Given the description of an element on the screen output the (x, y) to click on. 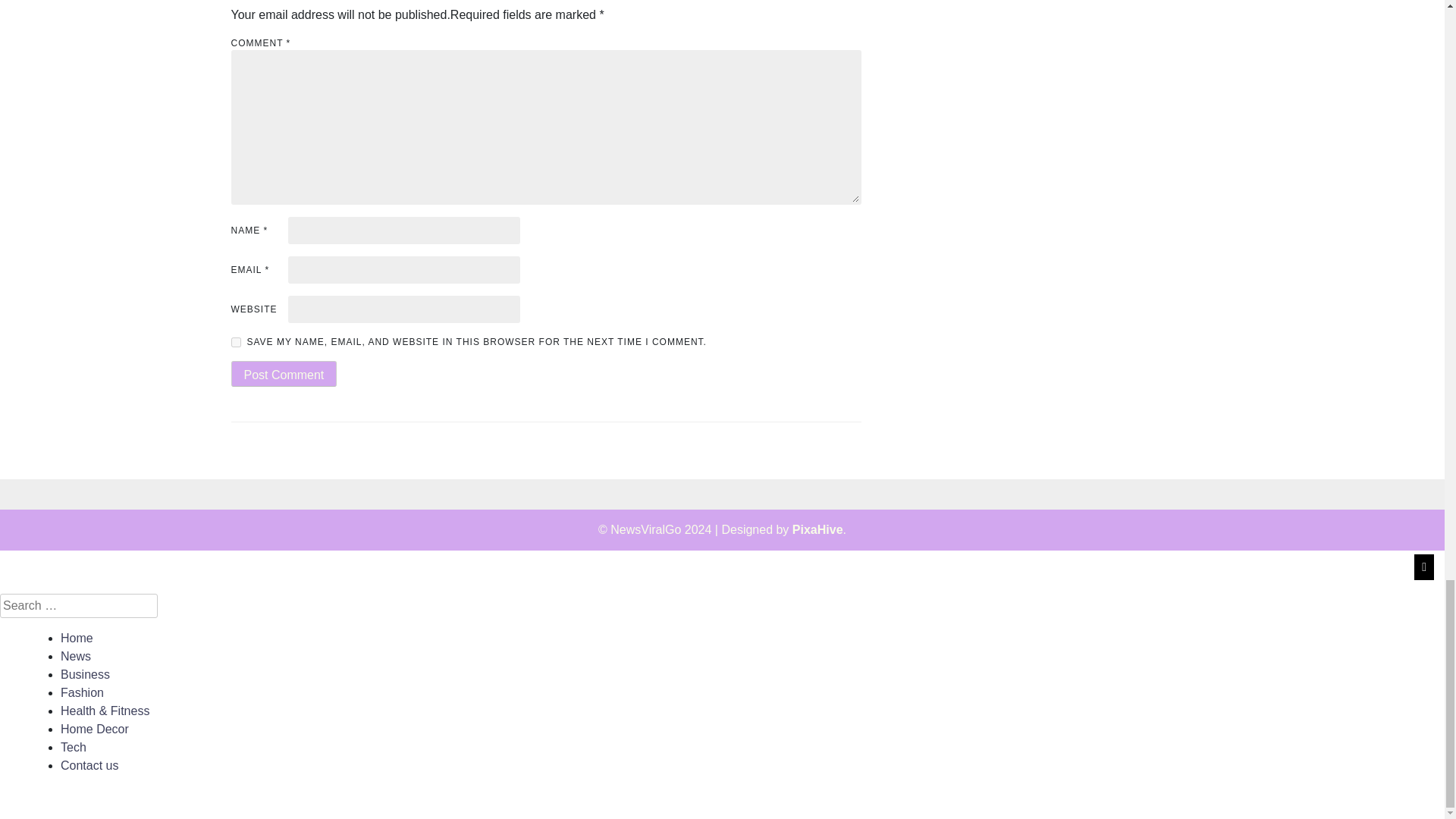
Fashion (82, 692)
Post Comment (283, 373)
Post Comment (283, 373)
News (75, 656)
Contact us (89, 765)
PixaHive (817, 529)
yes (235, 342)
Business (85, 674)
Tech (73, 747)
Home (77, 637)
